Given the description of an element on the screen output the (x, y) to click on. 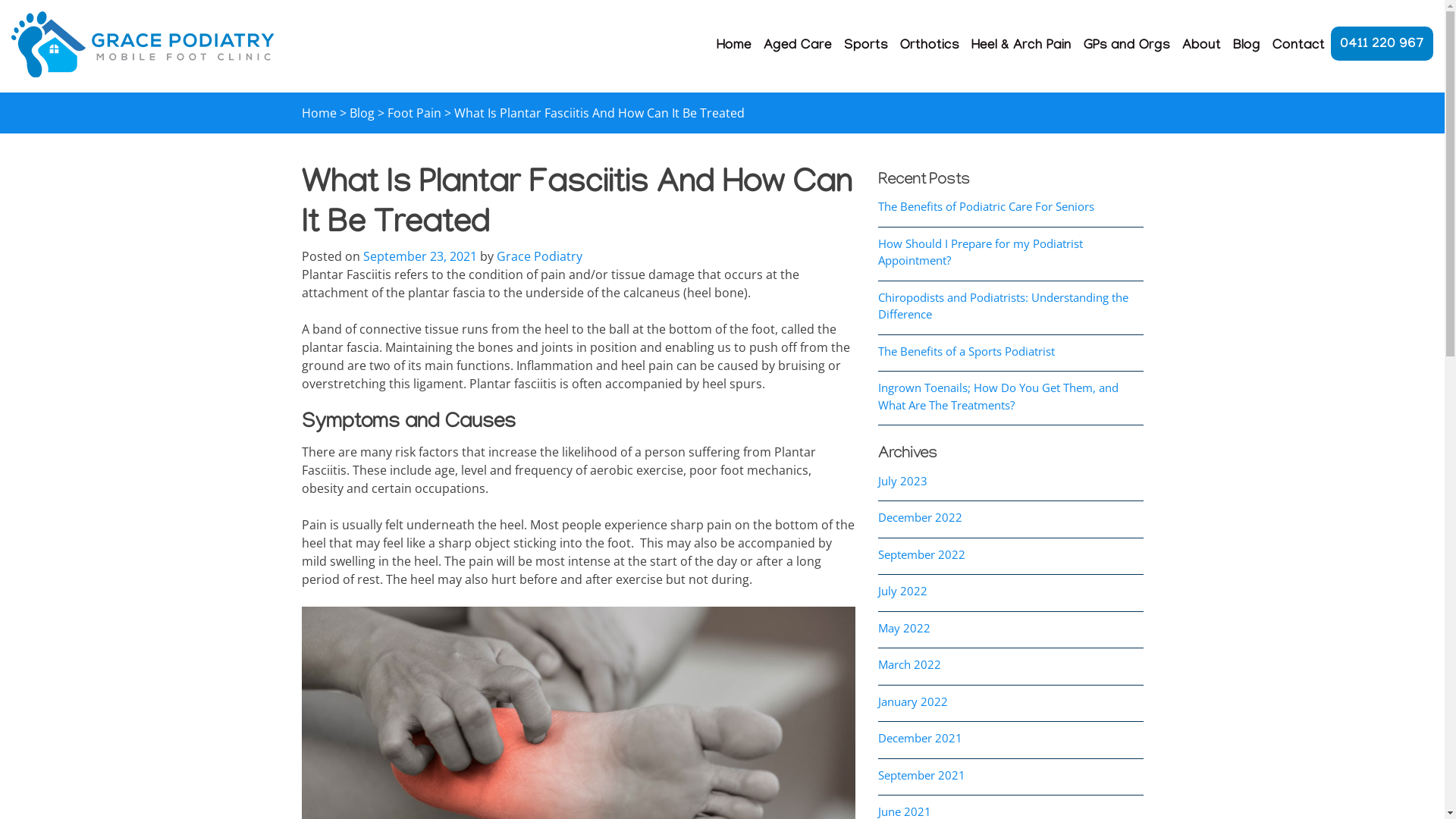
Foot Pain Element type: text (413, 112)
July 2023 Element type: text (902, 480)
Blog Element type: text (1246, 46)
September 2021 Element type: text (921, 774)
The Benefits of a Sports Podiatrist Element type: text (966, 350)
Aged Care Element type: text (797, 46)
Sports Element type: text (865, 46)
May 2022 Element type: text (904, 627)
Contact Element type: text (1298, 46)
Home Element type: text (733, 46)
How Should I Prepare for my Podiatrist Appointment? Element type: text (980, 251)
March 2022 Element type: text (909, 663)
Home Element type: text (318, 112)
GPs and Orgs Element type: text (1126, 46)
Chiropodists and Podiatrists: Understanding the Difference Element type: text (1003, 305)
0411 220 967 Element type: text (1381, 43)
Heel & Arch Pain Element type: text (1021, 46)
Orthotics Element type: text (929, 46)
December 2022 Element type: text (920, 516)
December 2021 Element type: text (920, 737)
September 23, 2021 Element type: text (419, 255)
Grace Podiatry Element type: text (54, 86)
About Element type: text (1201, 46)
September 2022 Element type: text (921, 553)
Blog Element type: text (360, 112)
Grace Podiatry Element type: text (538, 255)
January 2022 Element type: text (912, 701)
July 2022 Element type: text (902, 590)
The Benefits of Podiatric Care For Seniors Element type: text (986, 205)
